Given the description of an element on the screen output the (x, y) to click on. 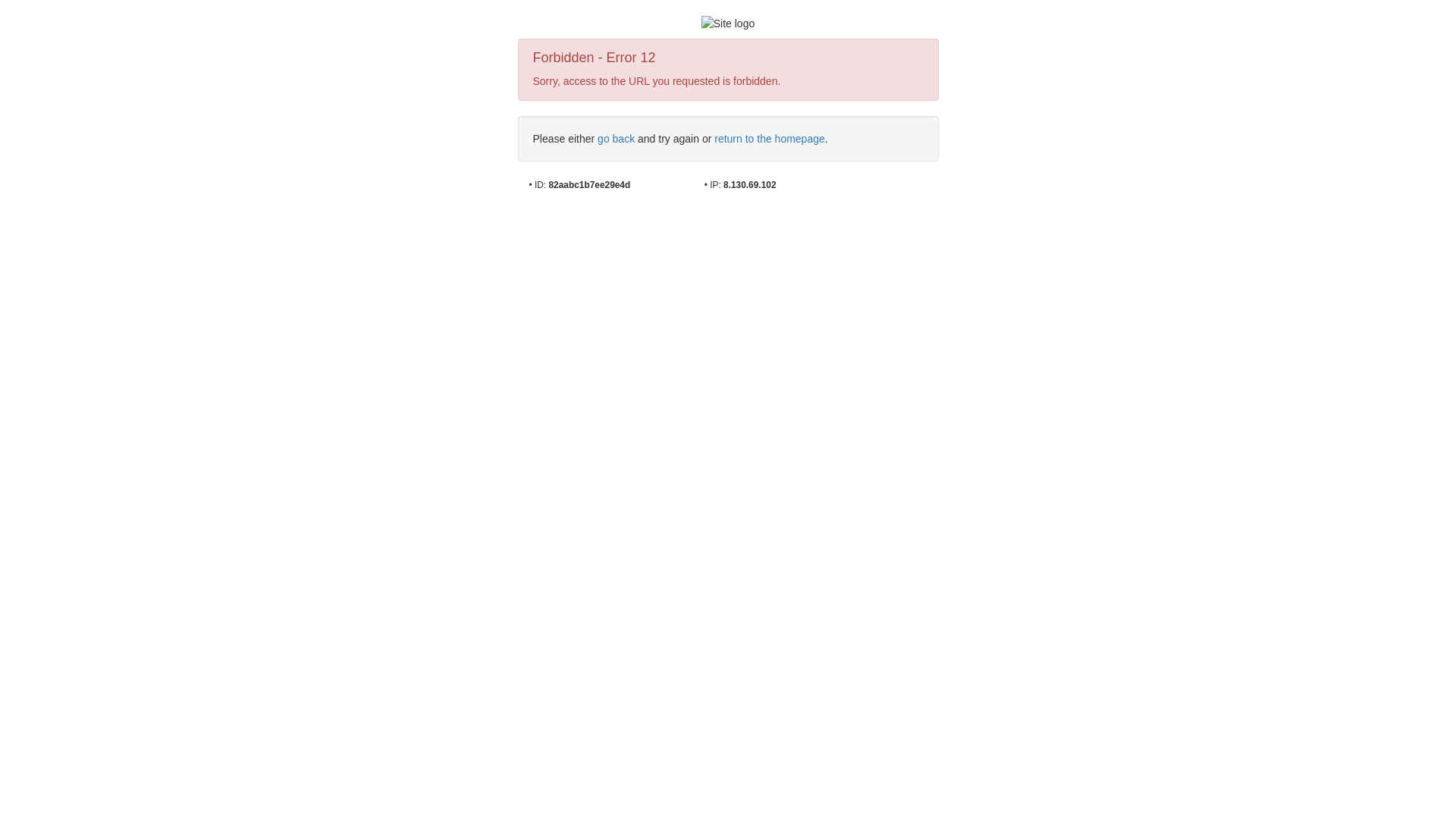
go back Element type: text (615, 138)
return to the homepage Element type: text (769, 138)
